Given the description of an element on the screen output the (x, y) to click on. 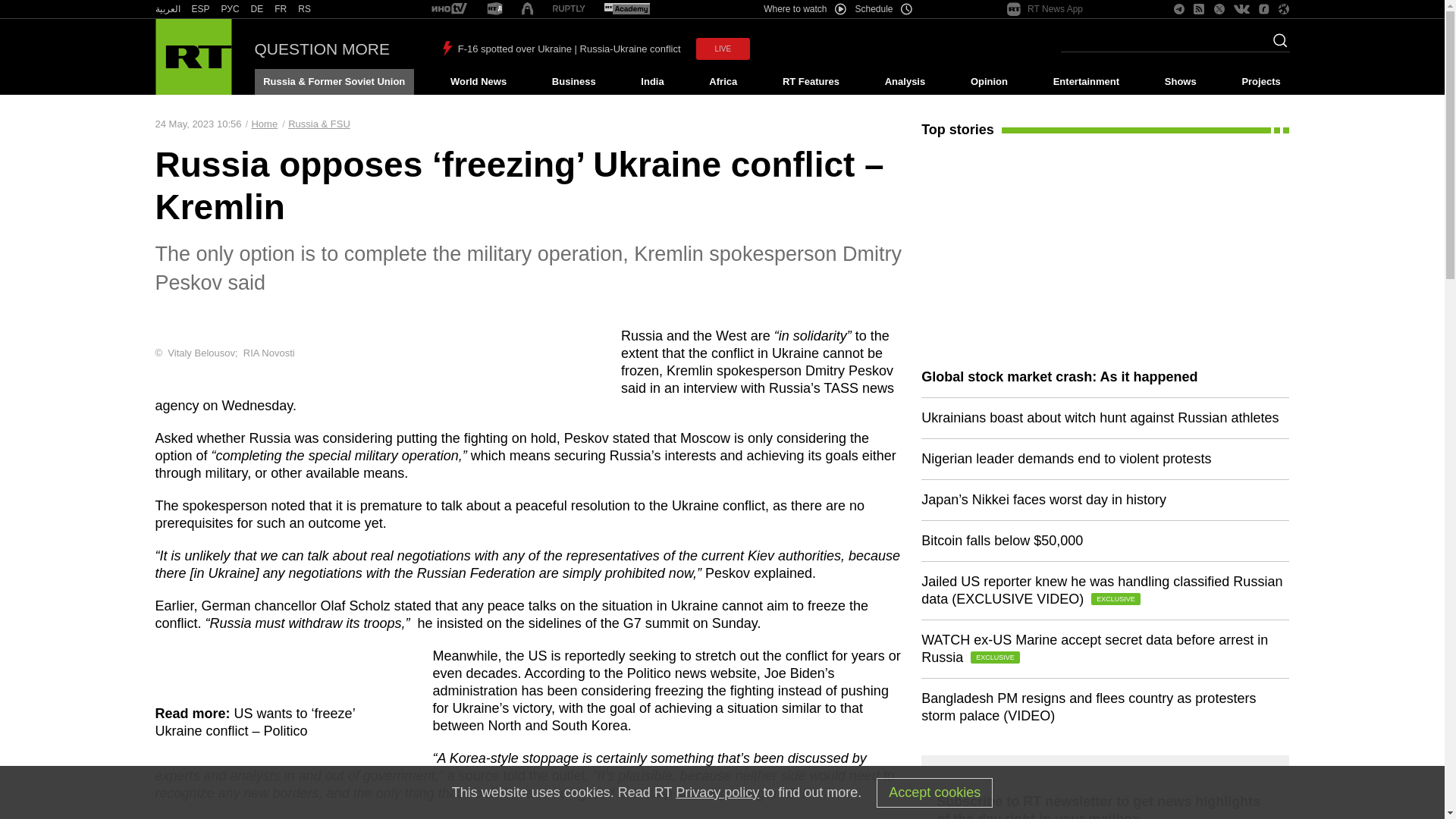
RT  (256, 9)
Projects (1261, 81)
Business (573, 81)
RT  (304, 9)
RT  (280, 9)
Search (1276, 44)
Africa (722, 81)
Analysis (905, 81)
RT  (569, 8)
RT  (626, 9)
